Given the description of an element on the screen output the (x, y) to click on. 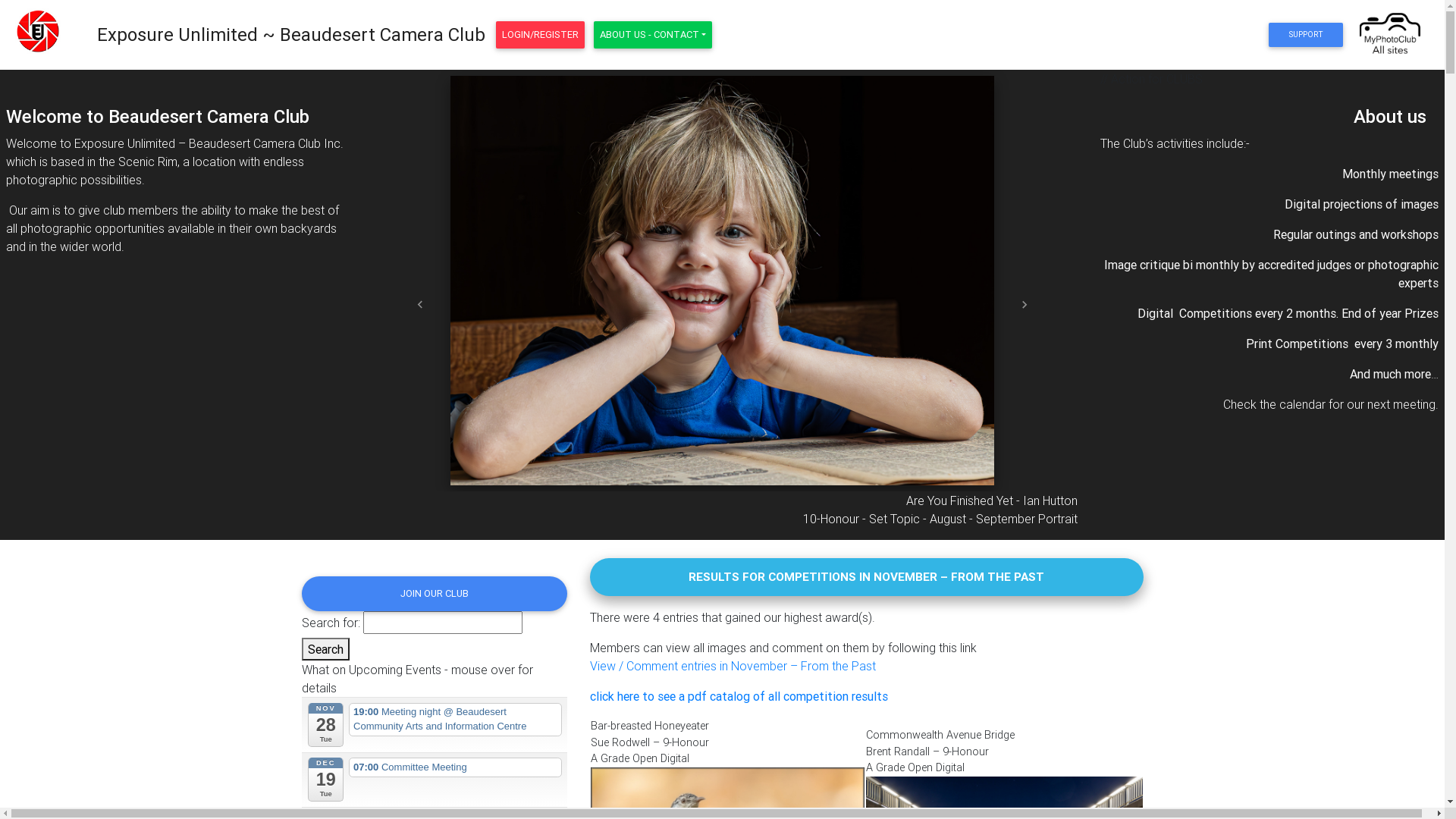
LOGIN/REGISTER Element type: text (539, 34)
07:00 Committee Meeting Element type: text (454, 767)
DEC
19
Tue Element type: text (325, 779)
JOIN OUR CLUB Element type: text (434, 593)
Next Element type: text (1024, 304)
NOV
28
Tue Element type: text (325, 724)
Search Element type: text (325, 648)
SUPPORT Element type: text (1305, 34)
Previous Element type: text (420, 304)
ABOUT US - CONTACT Element type: text (652, 34)
click here to see a pdf catalog of all competition results Element type: text (738, 695)
Exposure Unlimited ~ Beaudesert Camera Club Element type: text (291, 35)
